Given the description of an element on the screen output the (x, y) to click on. 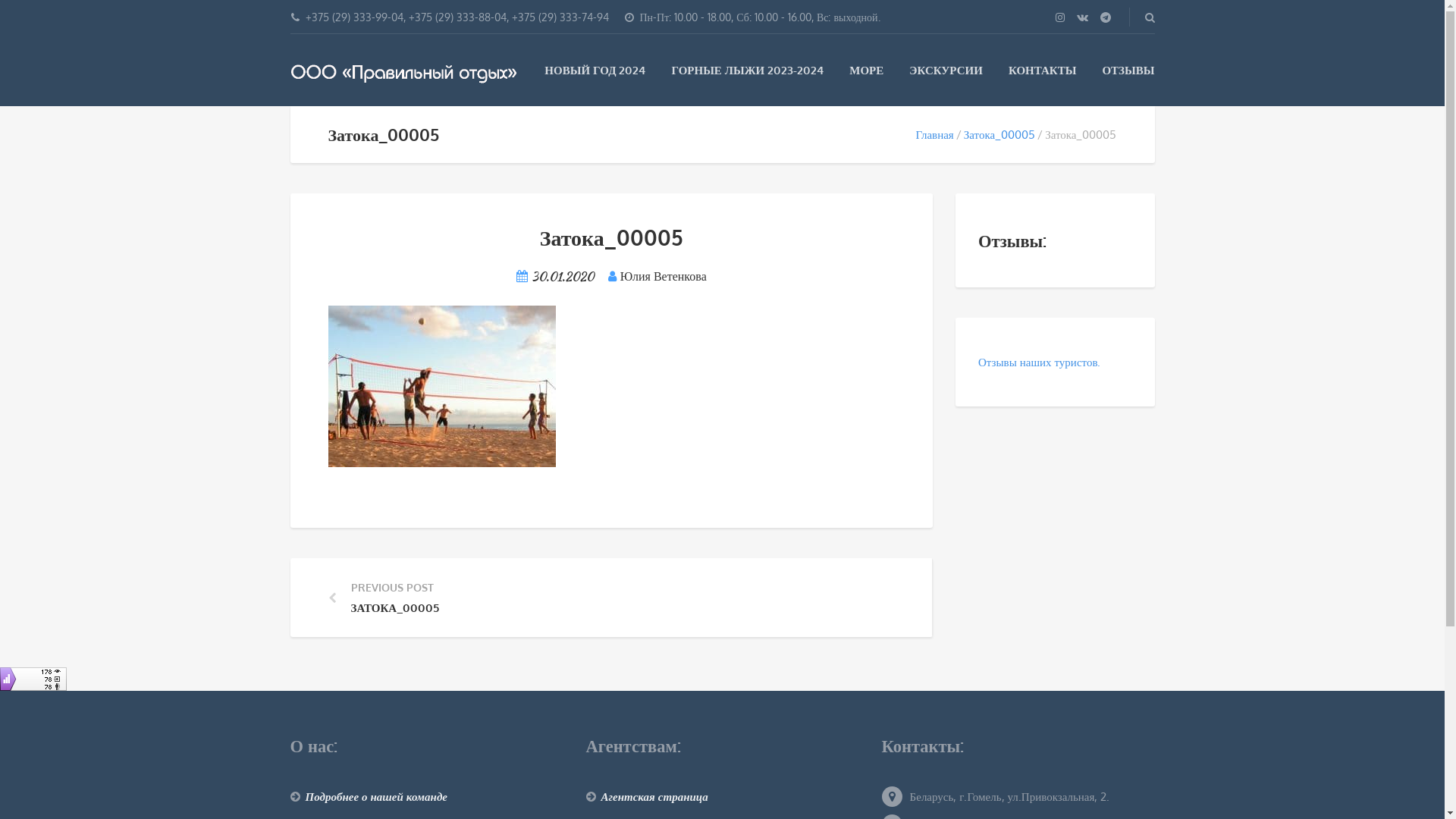
30.01.2020 Element type: text (562, 276)
